Given the description of an element on the screen output the (x, y) to click on. 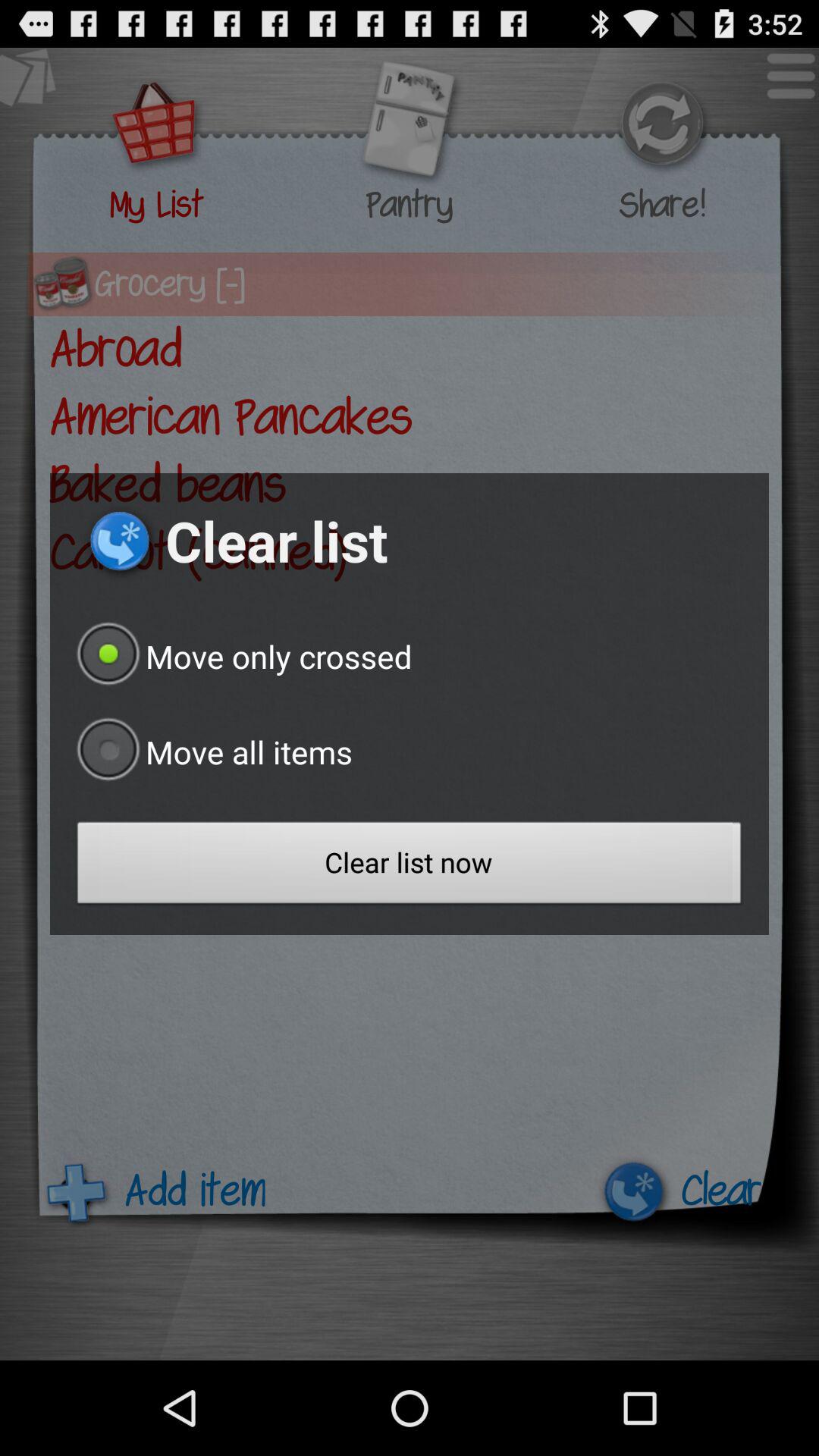
turn on the icon below move only crossed (210, 751)
